Given the description of an element on the screen output the (x, y) to click on. 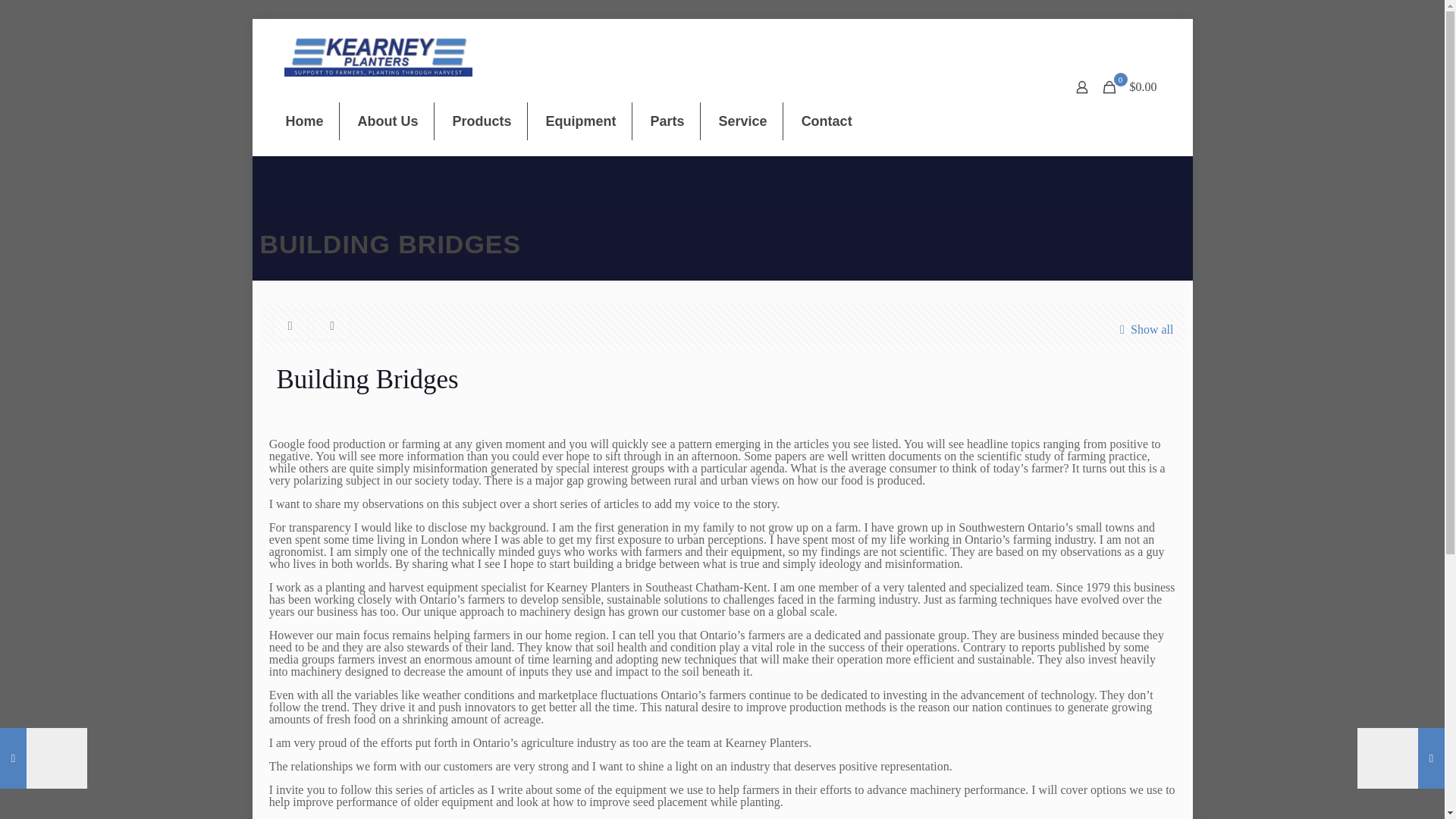
Service (743, 121)
Contact (826, 121)
About Us (387, 121)
Home (304, 121)
Parts (667, 121)
Show all (1143, 329)
Products (482, 121)
Equipment (581, 121)
